Given the description of an element on the screen output the (x, y) to click on. 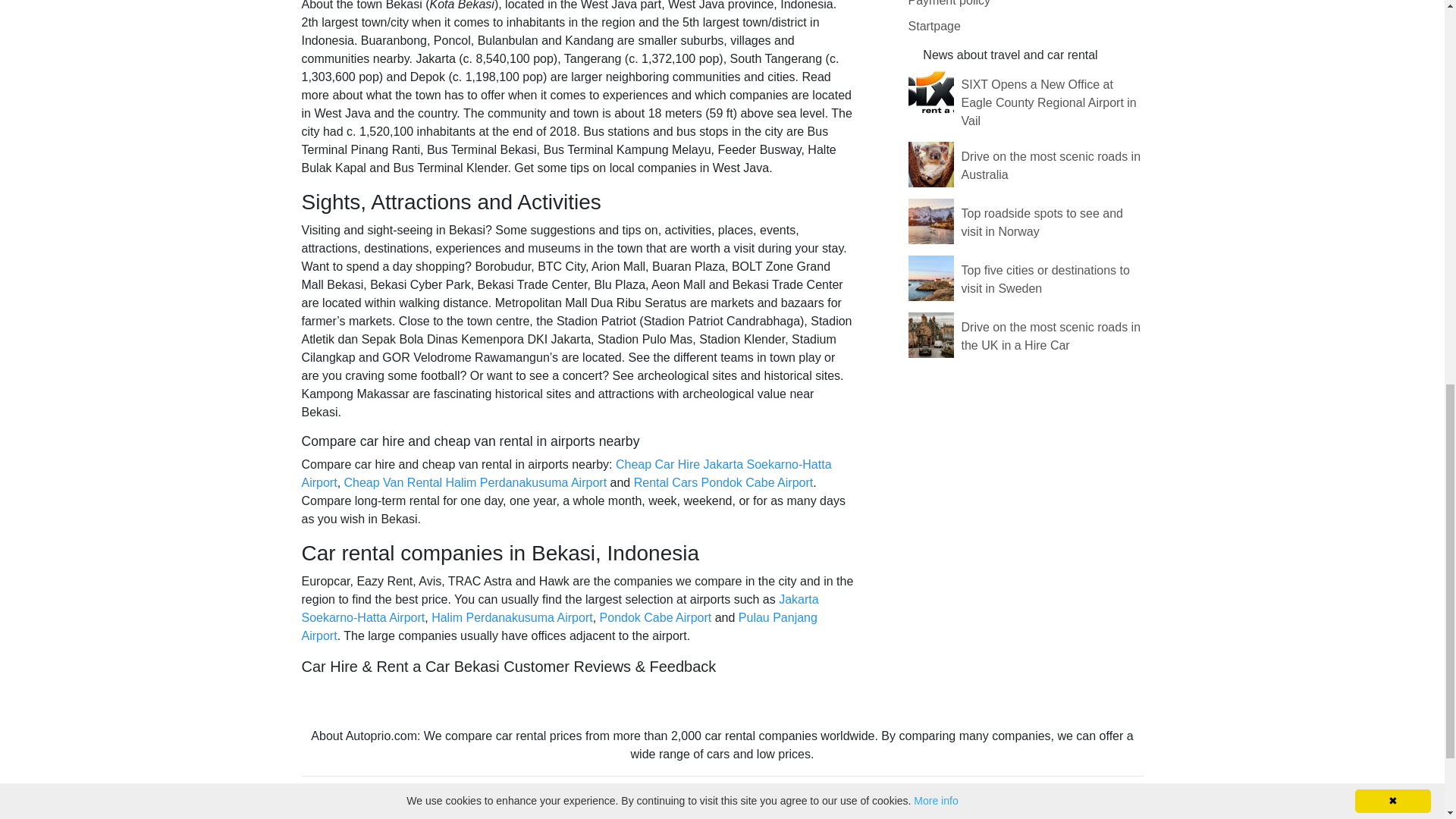
Pondok Cabe Airport (655, 617)
Jakarta Soekarno-Hatta Airport (559, 608)
Payment policy (949, 3)
Drive on the most scenic roads in Australia (1050, 164)
Halim Perdanakusuma Airport (511, 617)
Top five cities or destinations to visit in Sweden (1044, 278)
Pulau Panjang Airport (558, 626)
Cheap Van Rental Halim Perdanakusuma Airport (475, 481)
Rental Cars Pondok Cabe Airport (723, 481)
